Given the description of an element on the screen output the (x, y) to click on. 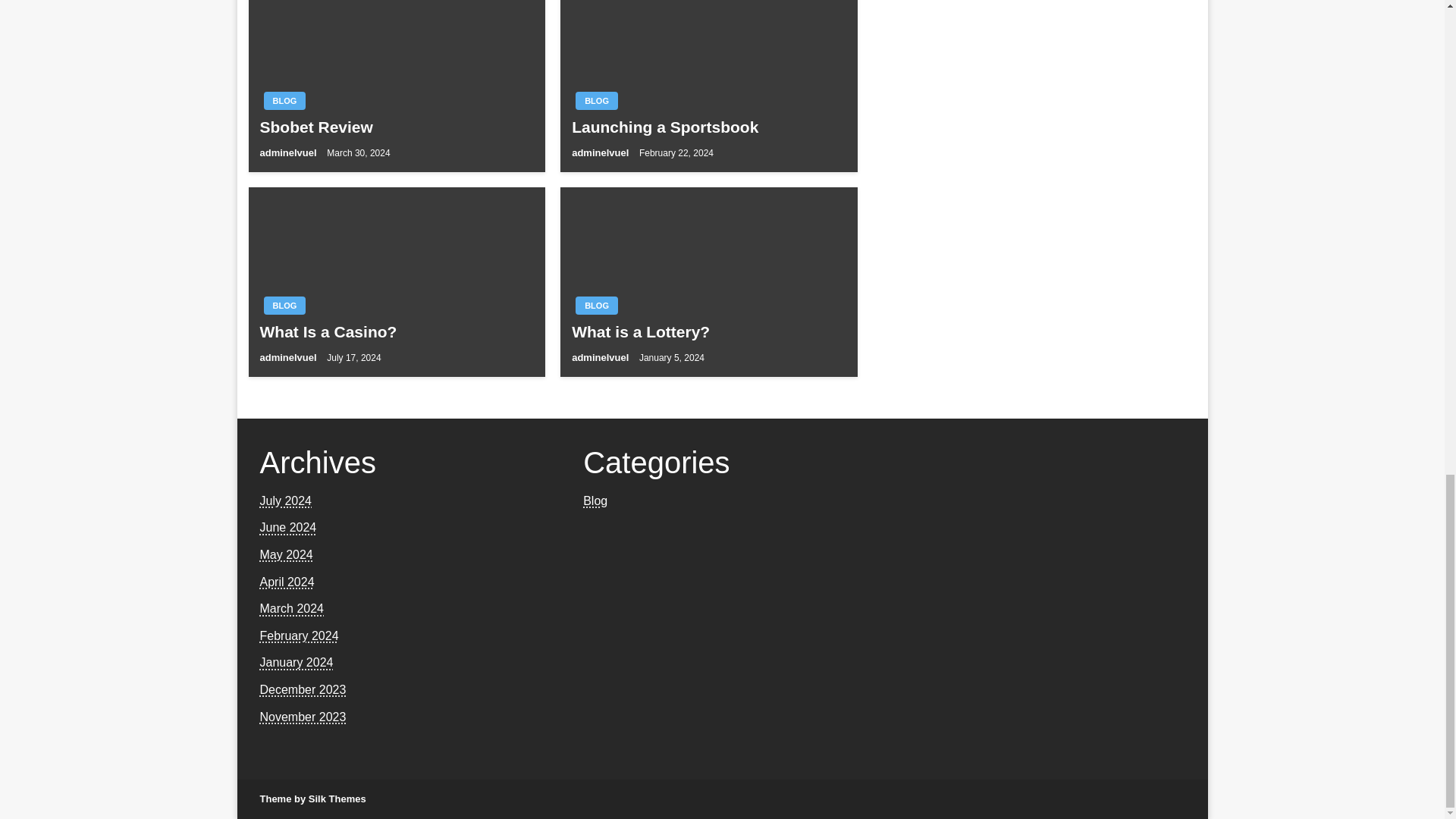
adminelvuel (601, 152)
adminelvuel (601, 357)
BLOG (284, 100)
What Is a Casino? (396, 332)
BLOG (596, 100)
June 2024 (287, 526)
Sbobet Review (396, 127)
adminelvuel (288, 357)
BLOG (284, 305)
adminelvuel (288, 152)
Launching a Sportsbook (708, 127)
BLOG (596, 305)
May 2024 (286, 554)
July 2024 (285, 500)
What is a Lottery? (708, 332)
